Given the description of an element on the screen output the (x, y) to click on. 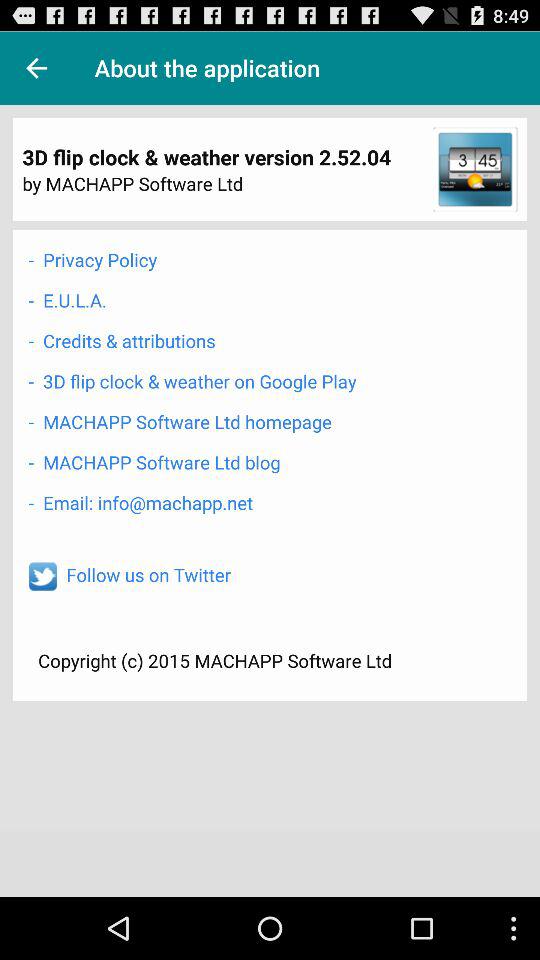
go to previous (36, 68)
